Given the description of an element on the screen output the (x, y) to click on. 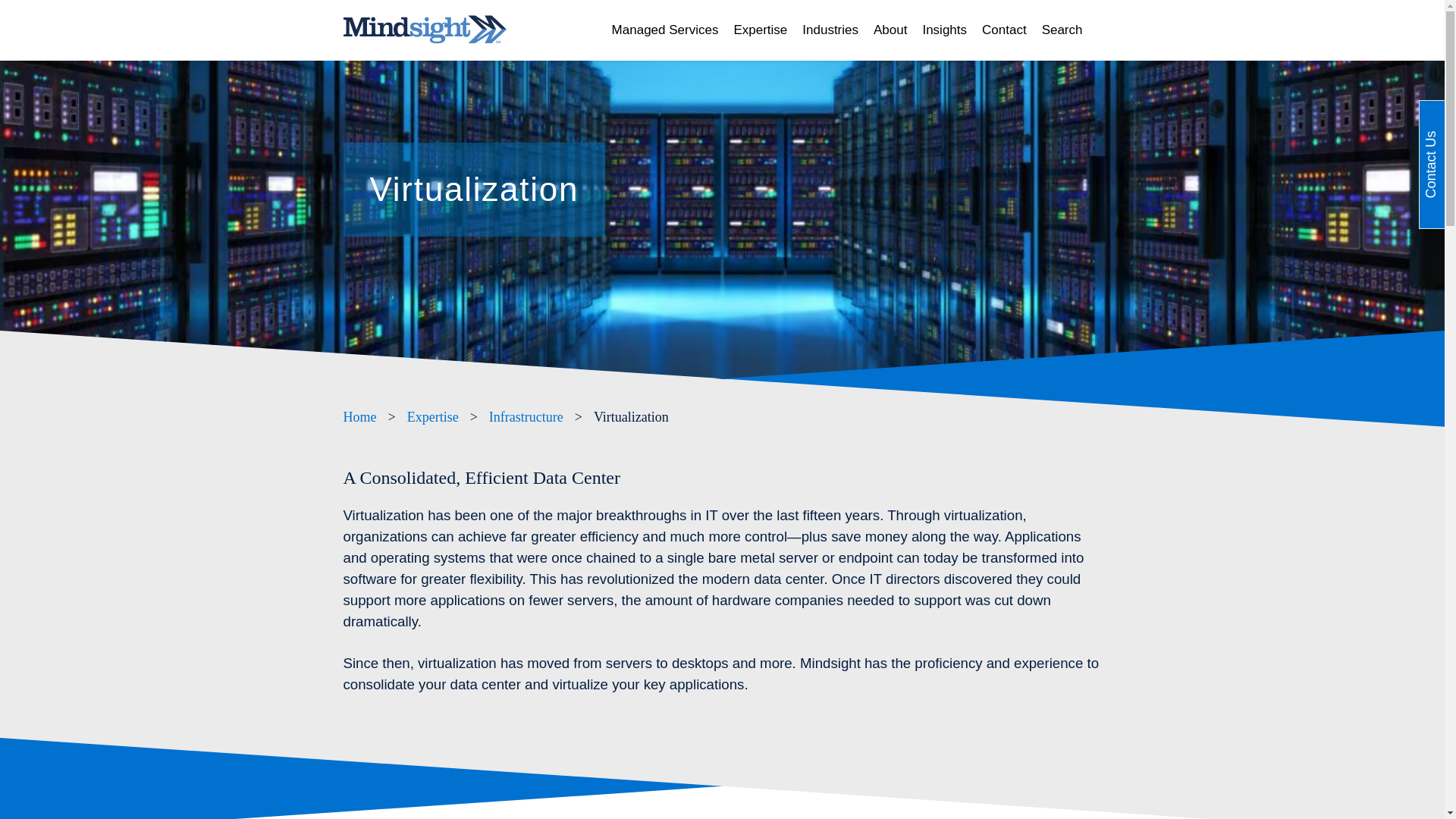
Managed Services (665, 30)
Expertise (759, 30)
Expertise (432, 417)
Industries (830, 30)
Virtualization (631, 417)
Infrastructure (526, 417)
Home (358, 417)
